Given the description of an element on the screen output the (x, y) to click on. 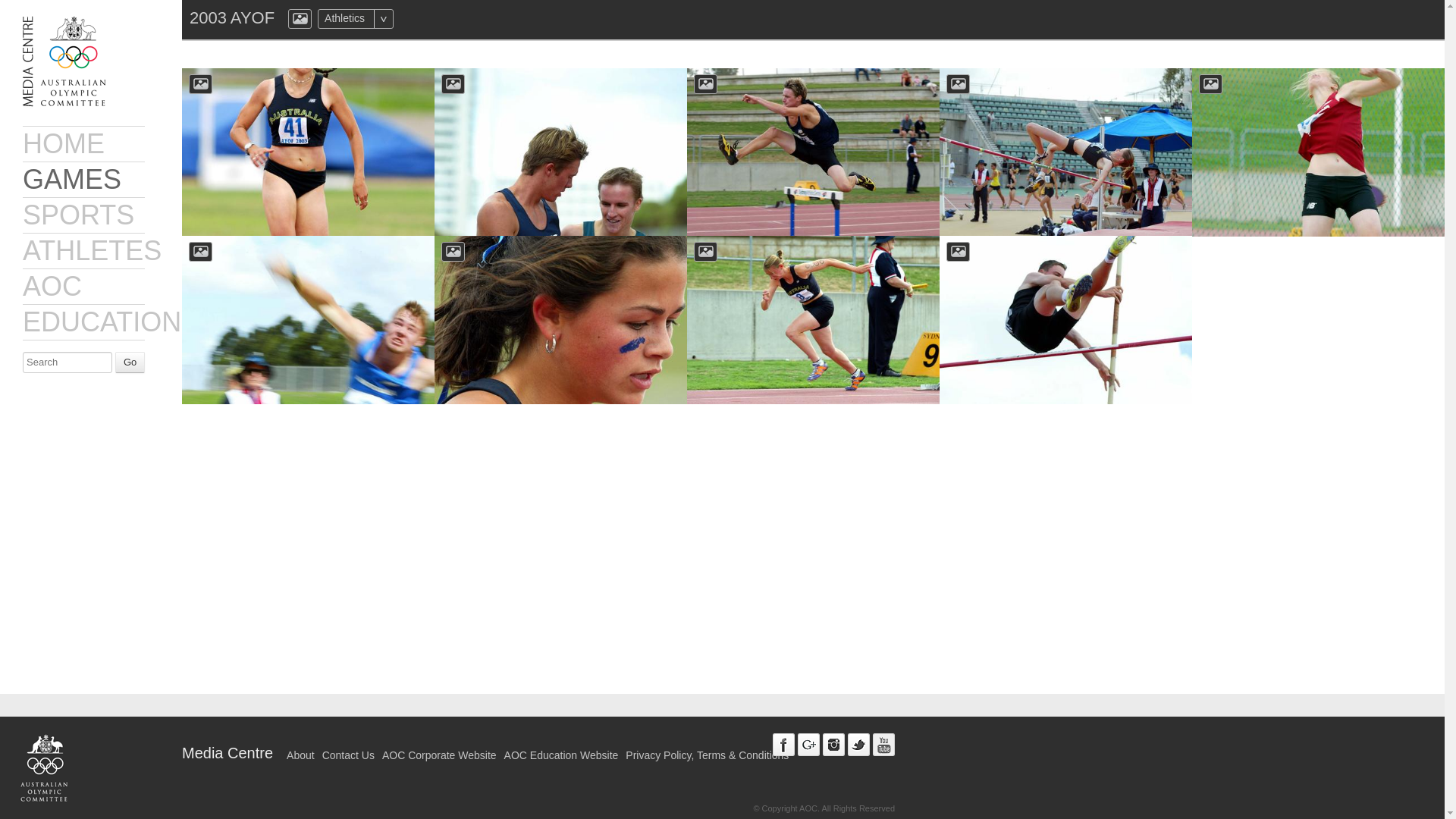
EDUCATION (101, 321)
AOC (52, 286)
HOME (63, 142)
SPORTS (78, 214)
Go (129, 362)
Images (299, 18)
About (300, 755)
All (413, 18)
ATHLETES (92, 250)
GAMES (71, 178)
